Given the description of an element on the screen output the (x, y) to click on. 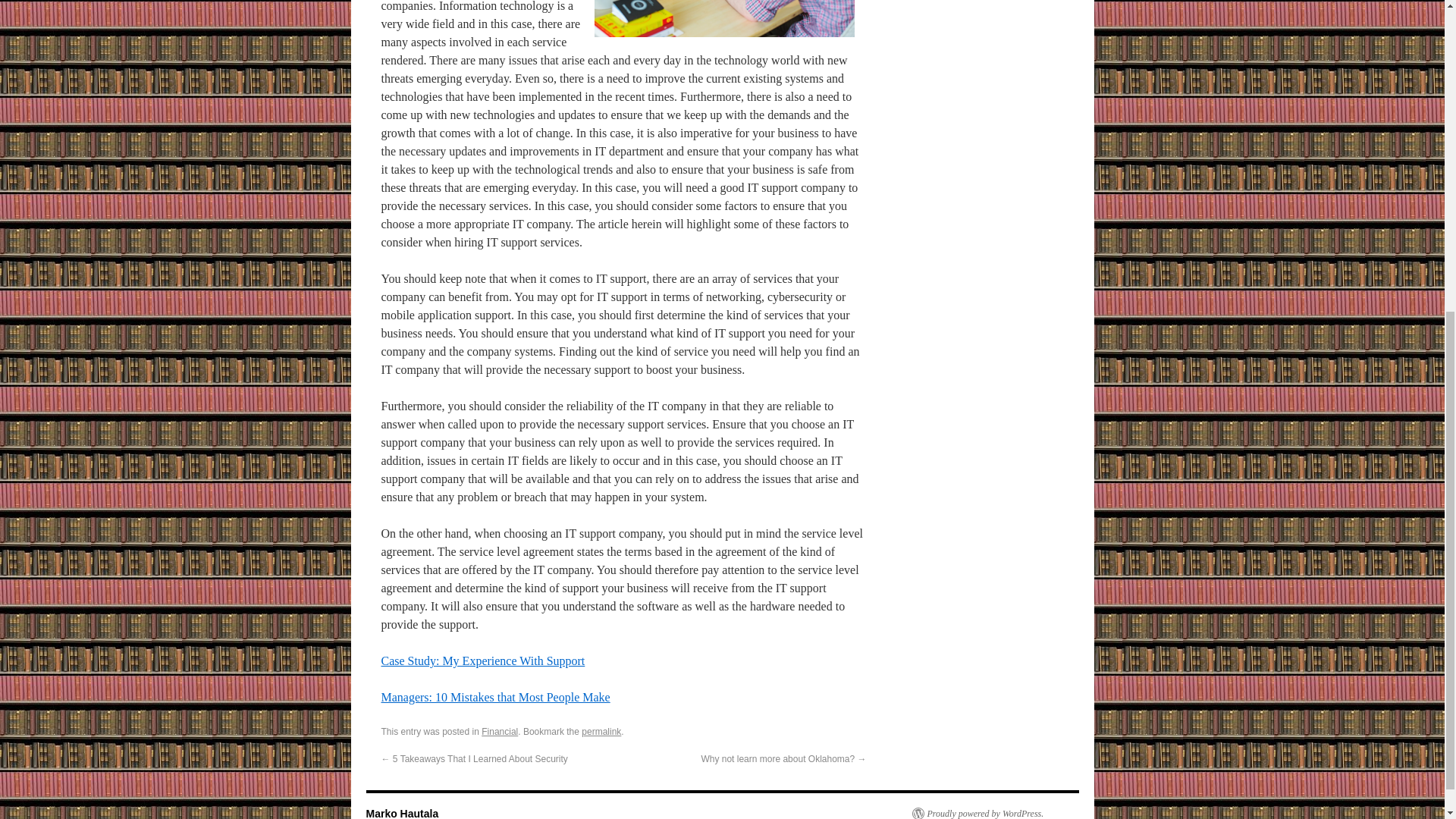
Financial (499, 731)
Case Study: My Experience With Support (482, 660)
permalink (600, 731)
Permalink to A Beginners Guide To Support (600, 731)
Managers: 10 Mistakes that Most People Make (495, 697)
